Given the description of an element on the screen output the (x, y) to click on. 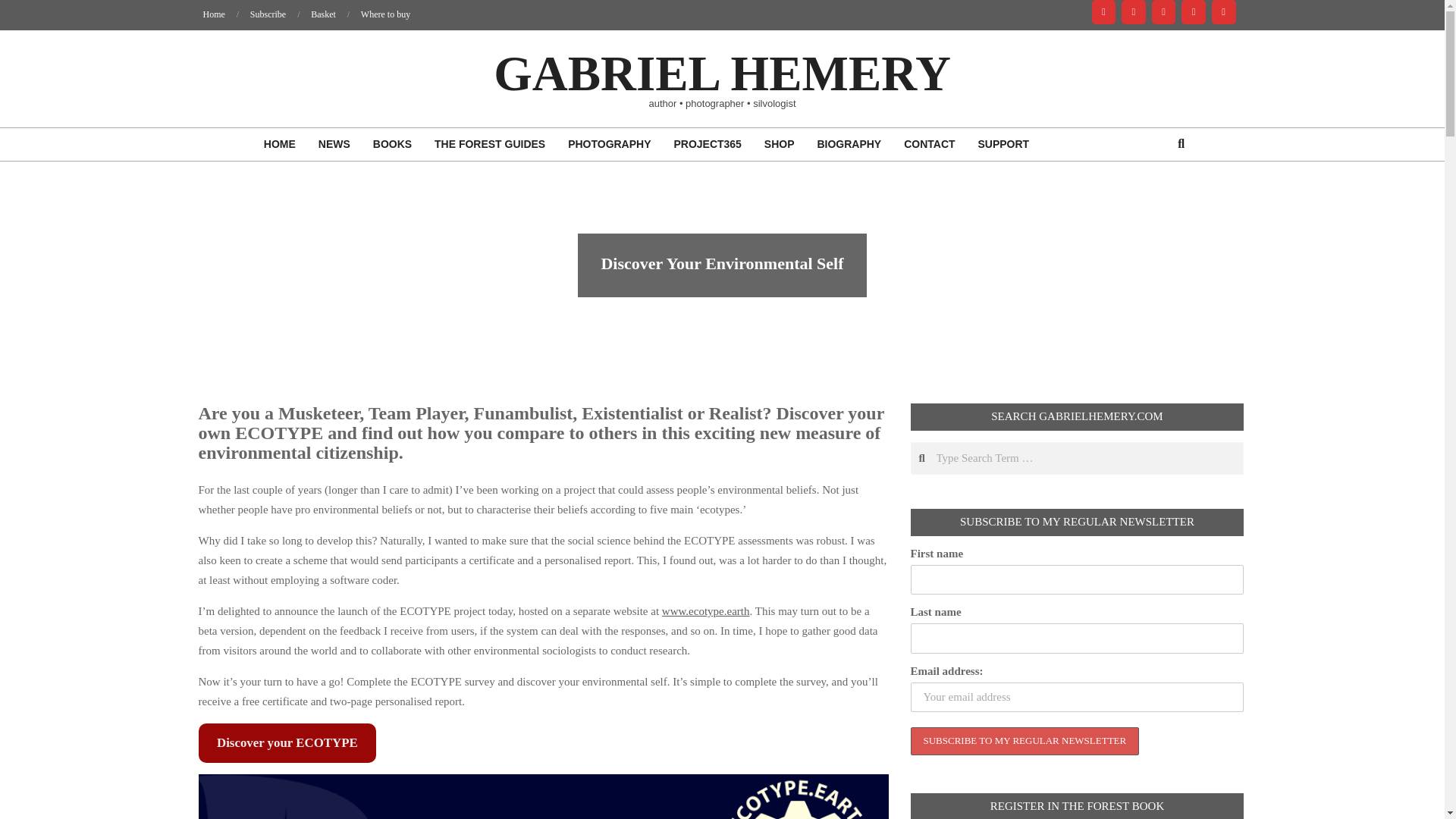
BOOKS (392, 143)
SUPPORT (1003, 143)
500px (1223, 12)
SHOP (779, 143)
Behance (1104, 12)
Subscribe (267, 14)
Instagram (1192, 12)
GABRIEL HEMERY (721, 72)
Where to buy (385, 14)
HOME (279, 143)
Home (214, 14)
books by Gabriel Hemery (392, 143)
PROJECT365 (707, 143)
Search (20, 8)
NEWS (334, 143)
